Given the description of an element on the screen output the (x, y) to click on. 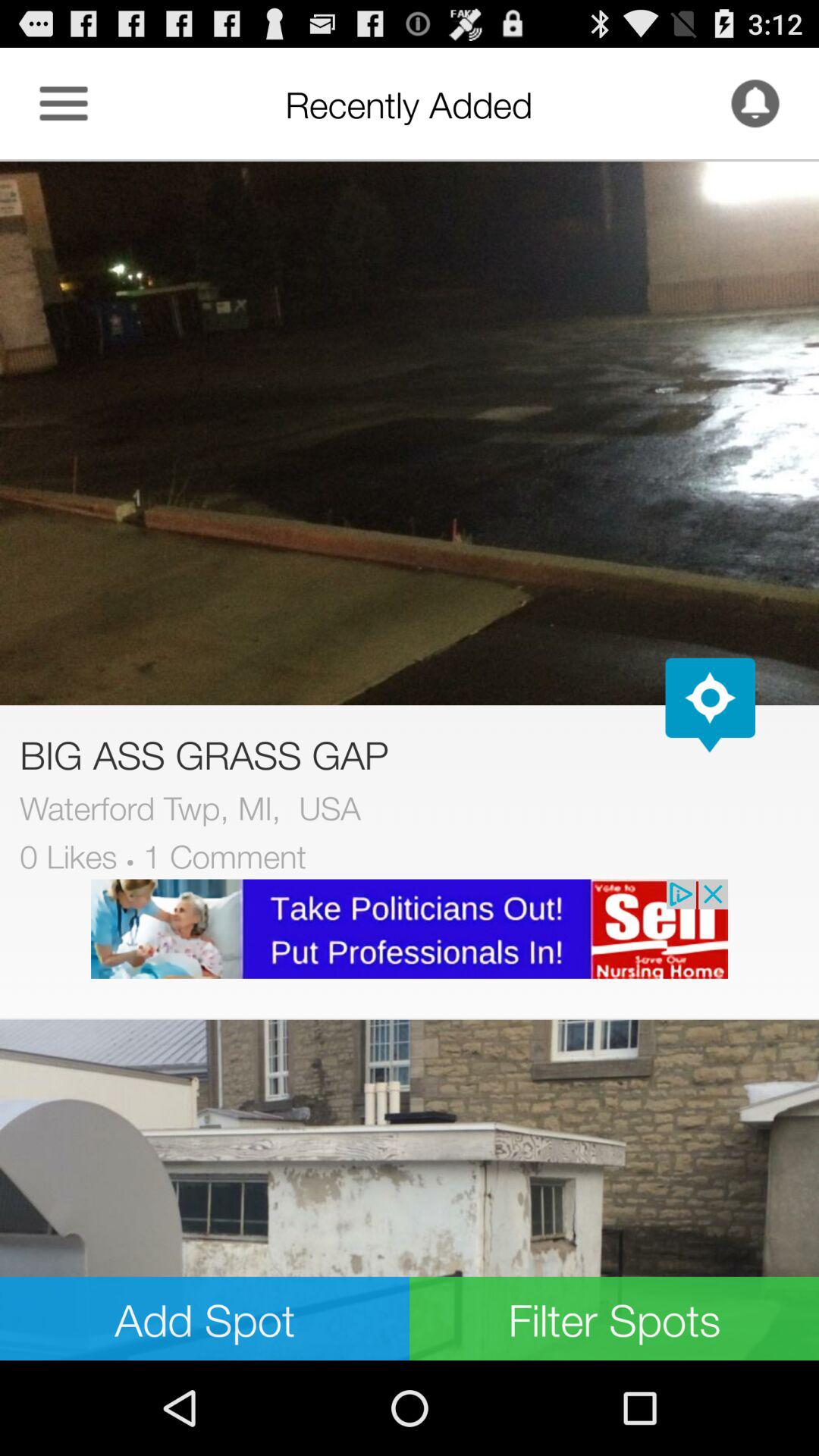
advertisement banner (409, 928)
